Given the description of an element on the screen output the (x, y) to click on. 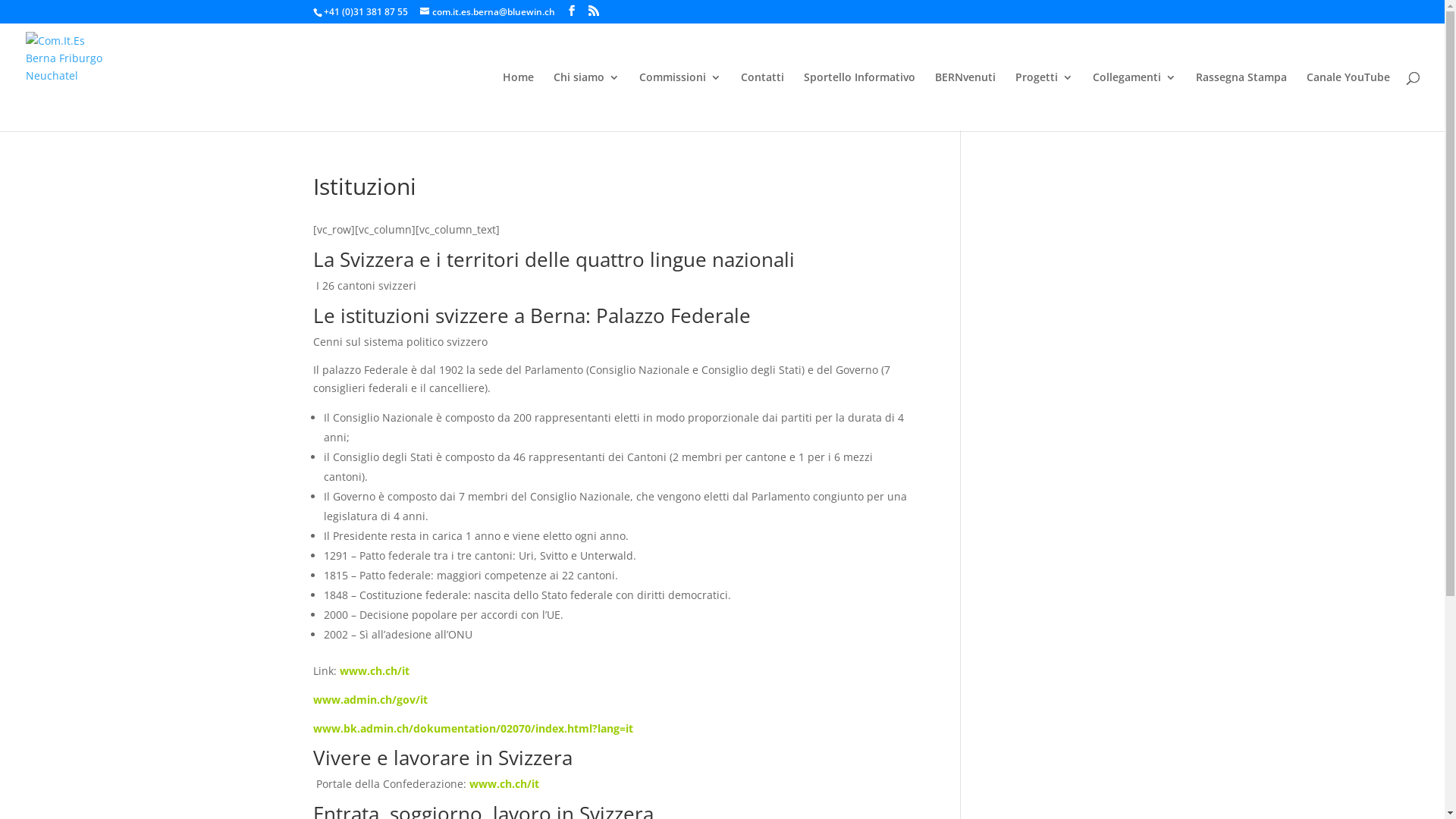
Rassegna Stampa Element type: text (1240, 101)
www.ch.ch/it Element type: text (374, 670)
BERNvenuti Element type: text (965, 101)
www.bk.admin.ch/dokumentation/02070/index.html?lang=it Element type: text (472, 728)
Commissioni Element type: text (680, 101)
Collegamenti Element type: text (1134, 101)
Canale YouTube Element type: text (1348, 101)
Sportello Informativo Element type: text (859, 101)
www.admin.ch/gov/it Element type: text (369, 699)
Chi siamo Element type: text (586, 101)
com.it.es.berna@bluewin.ch Element type: text (487, 11)
www.ch.ch/it Element type: text (503, 783)
Home Element type: text (517, 101)
Contatti Element type: text (762, 101)
Progetti Element type: text (1044, 101)
